Given the description of an element on the screen output the (x, y) to click on. 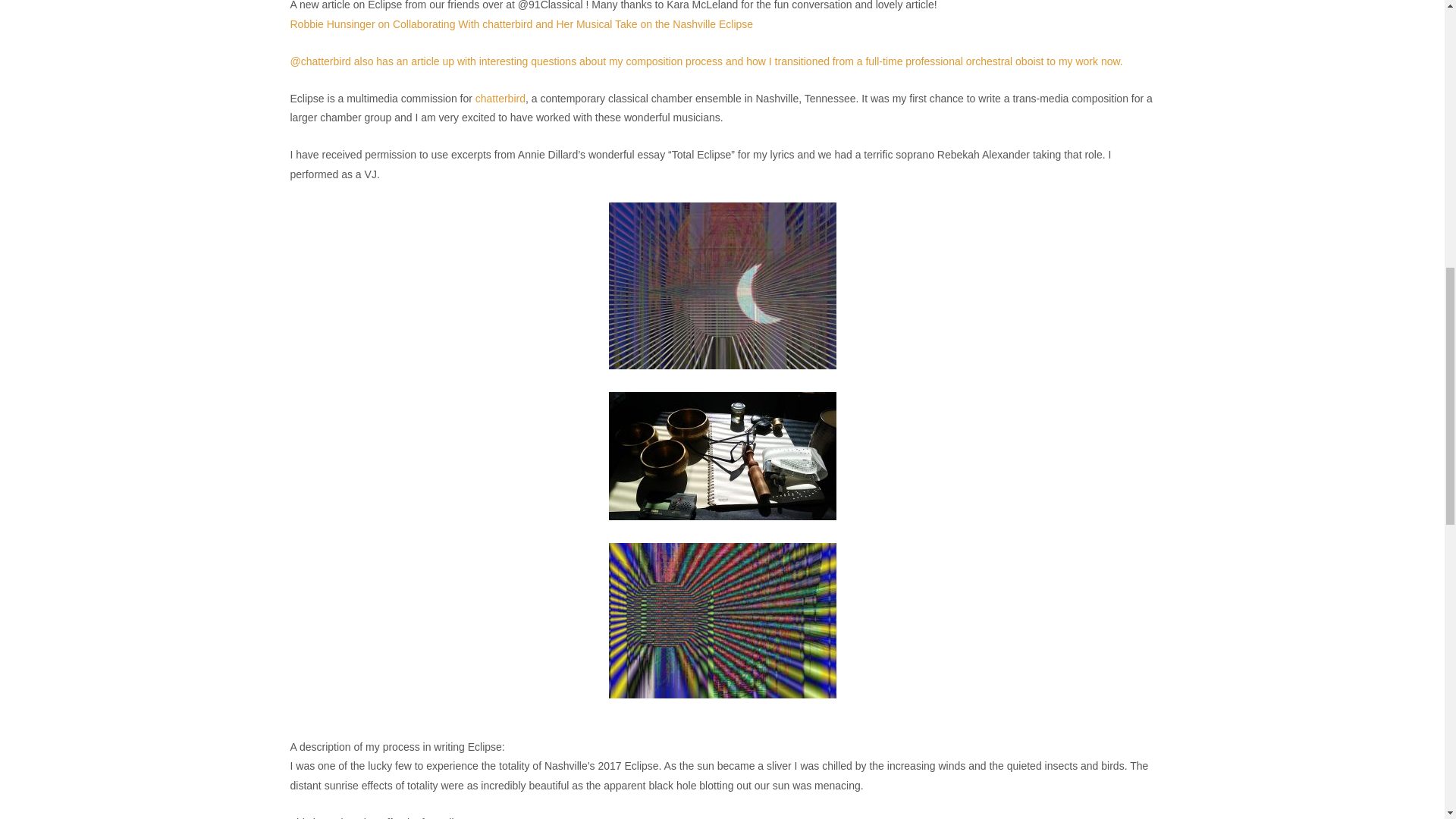
Her Musical Take on the Nashville Eclipse  (655, 24)
chatterbird (500, 98)
Robbie Hunsinger on Collaborating With chatterbird and (422, 24)
